Given the description of an element on the screen output the (x, y) to click on. 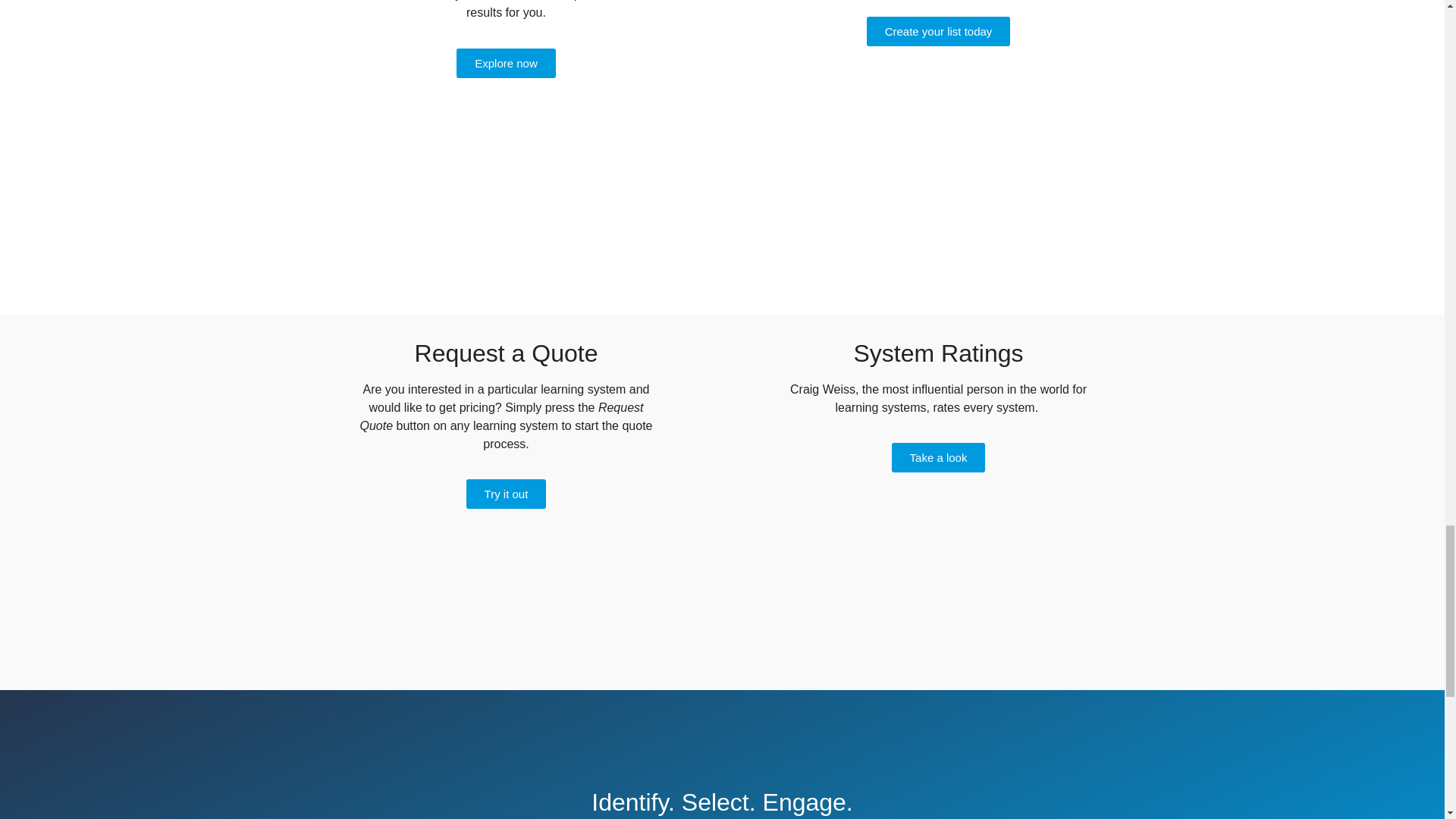
Take a look (938, 457)
Create your list today (938, 30)
Try it out (506, 493)
Explore now (506, 62)
